Given the description of an element on the screen output the (x, y) to click on. 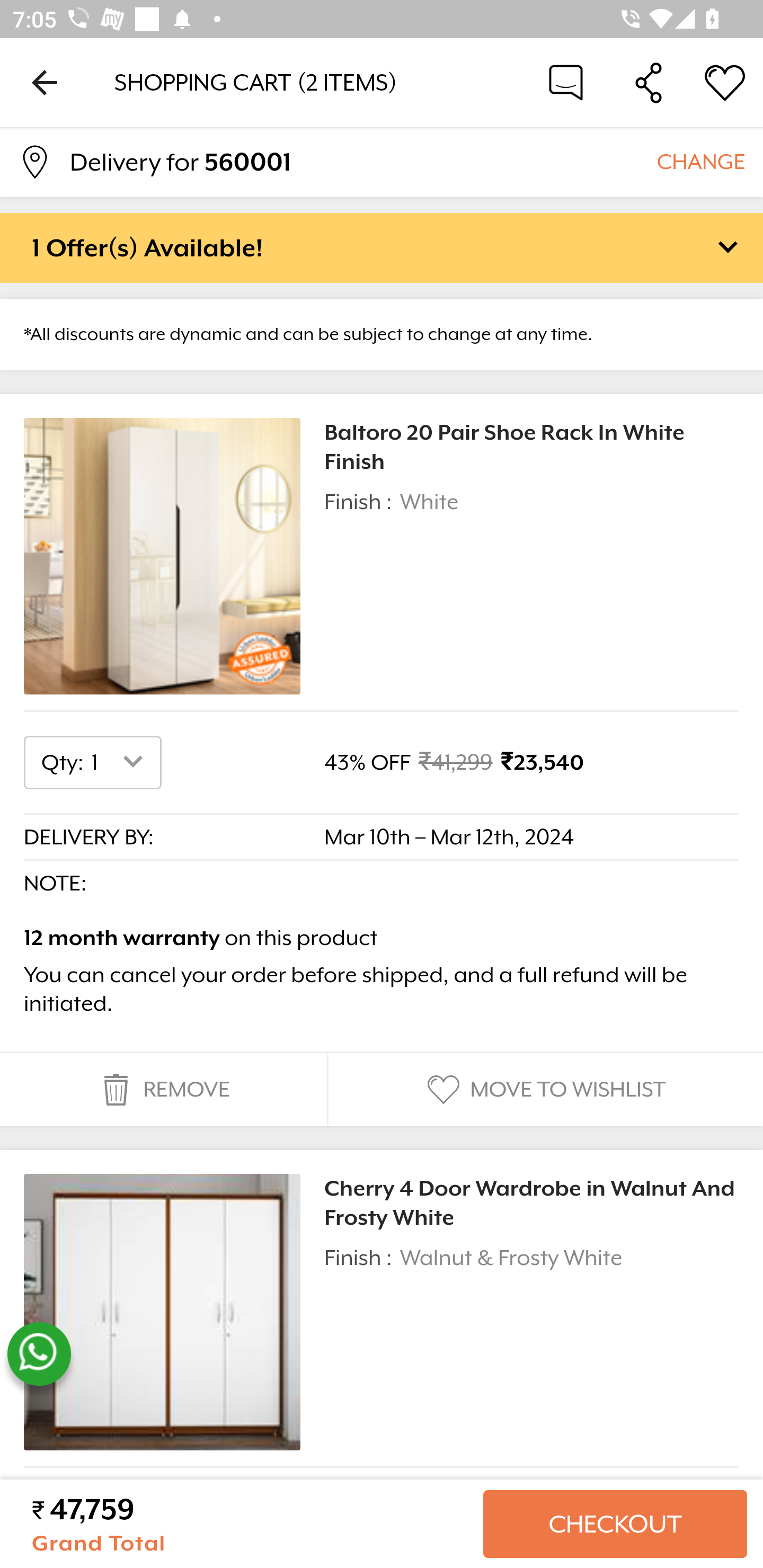
Navigate up (44, 82)
Chat (565, 81)
Share Cart (648, 81)
Wishlist (724, 81)
CHANGE (700, 161)
1 Offer(s) Available! (381, 247)
1 (121, 761)
REMOVE (163, 1089)
MOVE TO WISHLIST (544, 1089)
whatsapp (38, 1353)
₹ 47,759 Grand Total (250, 1523)
CHECKOUT (614, 1523)
